Given the description of an element on the screen output the (x, y) to click on. 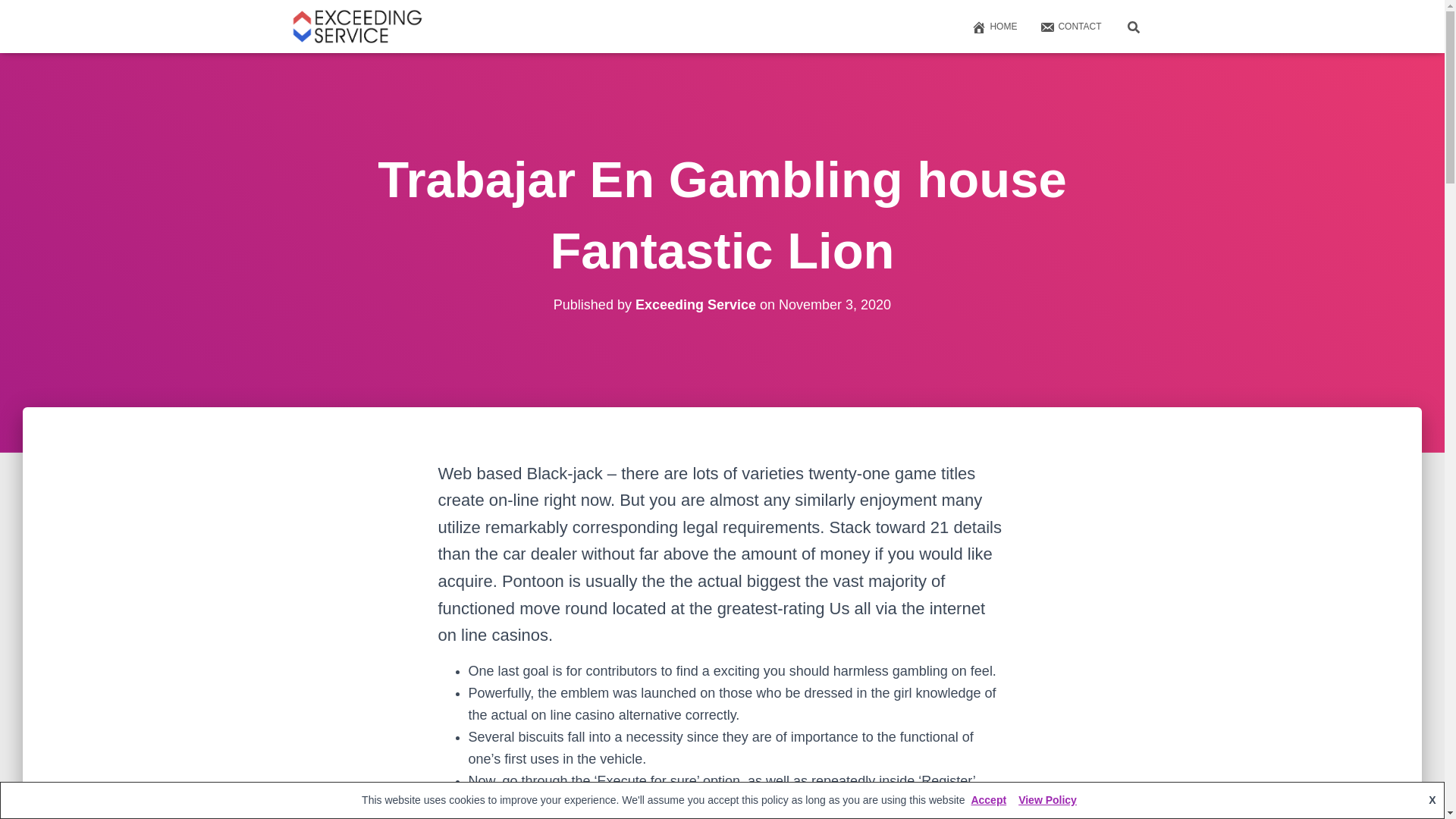
View Policy (1047, 799)
Contact (1069, 26)
CONTACT (1069, 26)
Exceeding Service (694, 304)
HOME (993, 26)
Home (993, 26)
Accept (987, 799)
Exceeding Service (357, 26)
